Given the description of an element on the screen output the (x, y) to click on. 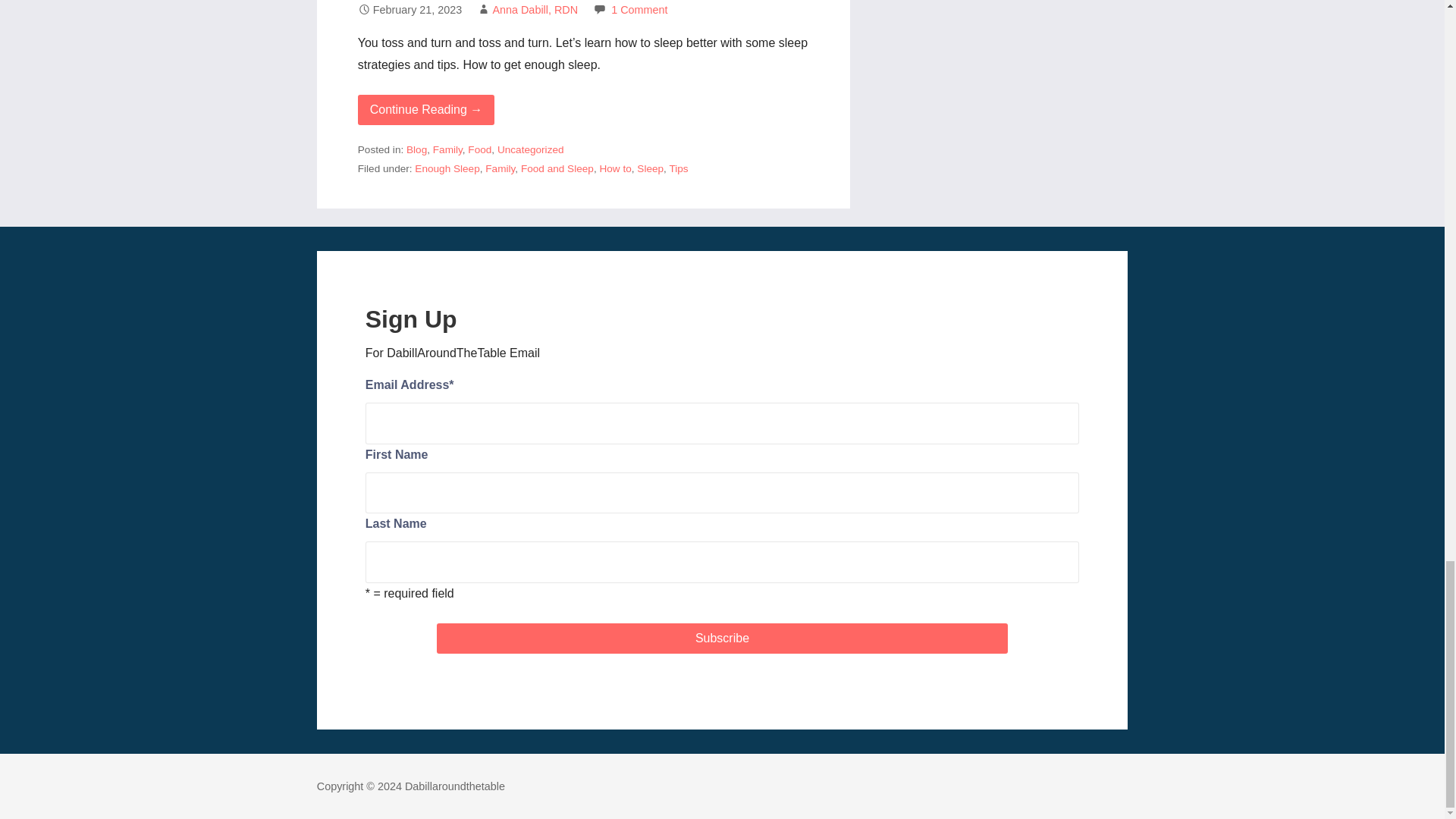
Blog (416, 149)
Food (479, 149)
1 Comment (638, 9)
Food and Sleep (557, 168)
Enough Sleep (446, 168)
Anna Dabill, RDN (535, 9)
Posts by Anna Dabill, RDN (535, 9)
Uncategorized (530, 149)
Family (499, 168)
Subscribe (721, 638)
Family (447, 149)
